Given the description of an element on the screen output the (x, y) to click on. 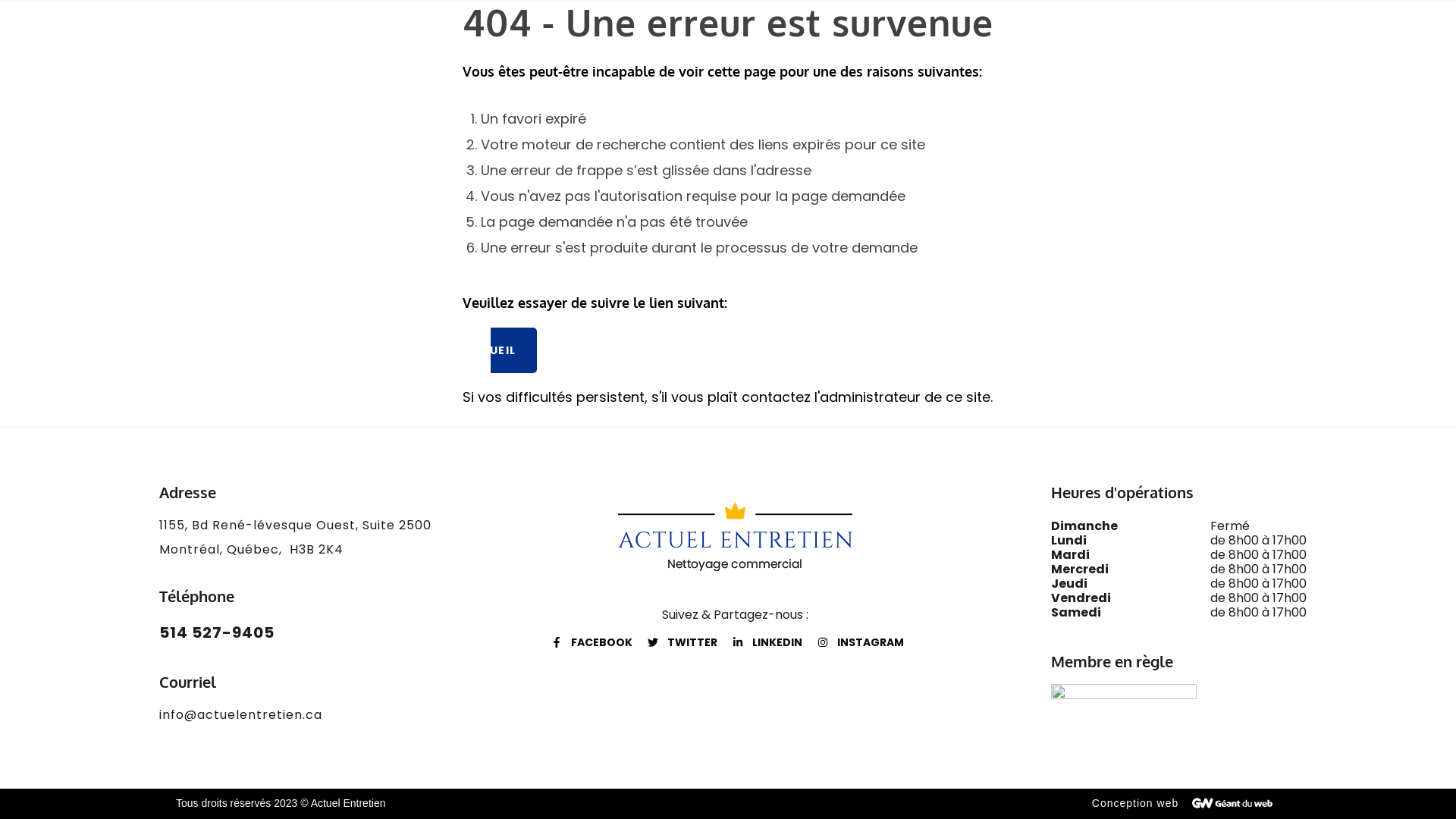
TWITTER Element type: text (682, 642)
ACCUEIL Element type: text (499, 350)
INSTAGRAM Element type: text (860, 642)
514 527-9405 Element type: text (216, 632)
Conception web Element type: text (1135, 803)
FACEBOOK Element type: text (591, 642)
info@actuelentretien.ca Element type: text (240, 714)
LINKEDIN Element type: text (767, 642)
